Given the description of an element on the screen output the (x, y) to click on. 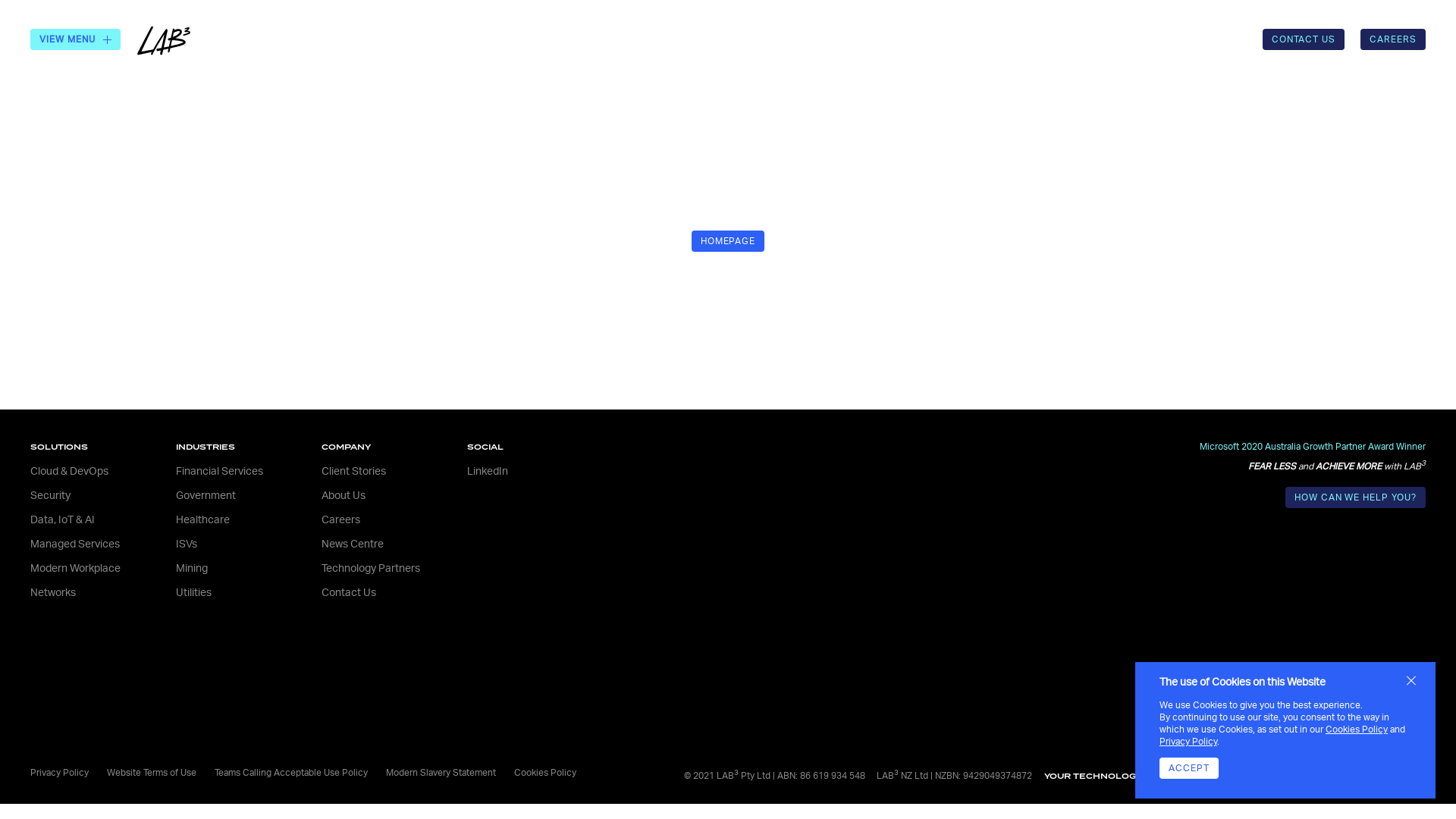
Networks Element type: text (52, 592)
Utilities Element type: text (193, 592)
HOMEPAGE Element type: text (728, 240)
HOW CAN WE HELP YOU? Element type: text (1355, 497)
Teams Calling Acceptable Use Policy Element type: text (290, 772)
LinkedIn Element type: text (487, 471)
ISVs Element type: text (186, 544)
Mining Element type: text (191, 568)
Financial Services Element type: text (219, 471)
CONTACT US Element type: text (1303, 39)
Client Stories Element type: text (353, 471)
Cloud & DevOps Element type: text (69, 471)
Cookies Policy Element type: text (545, 772)
Cookies Policy Element type: text (1356, 729)
Contact Us Element type: text (348, 592)
Managed Services Element type: text (74, 544)
Modern Slavery Statement Element type: text (440, 772)
Careers Element type: text (340, 519)
Government Element type: text (205, 495)
CAREERS Element type: text (1392, 39)
ACCEPT Element type: text (1188, 767)
Digital Agency Melbourne Element type: text (1355, 775)
Website Terms of Use Element type: text (151, 772)
Privacy Policy Element type: text (1188, 741)
About Us Element type: text (343, 495)
Privacy Policy Element type: text (59, 772)
News Centre Element type: text (352, 544)
Security Element type: text (50, 495)
Healthcare Element type: text (202, 519)
Data, IoT & AI Element type: text (62, 519)
Technology Partners Element type: text (370, 568)
Modern Workplace Element type: text (75, 568)
